Given the description of an element on the screen output the (x, y) to click on. 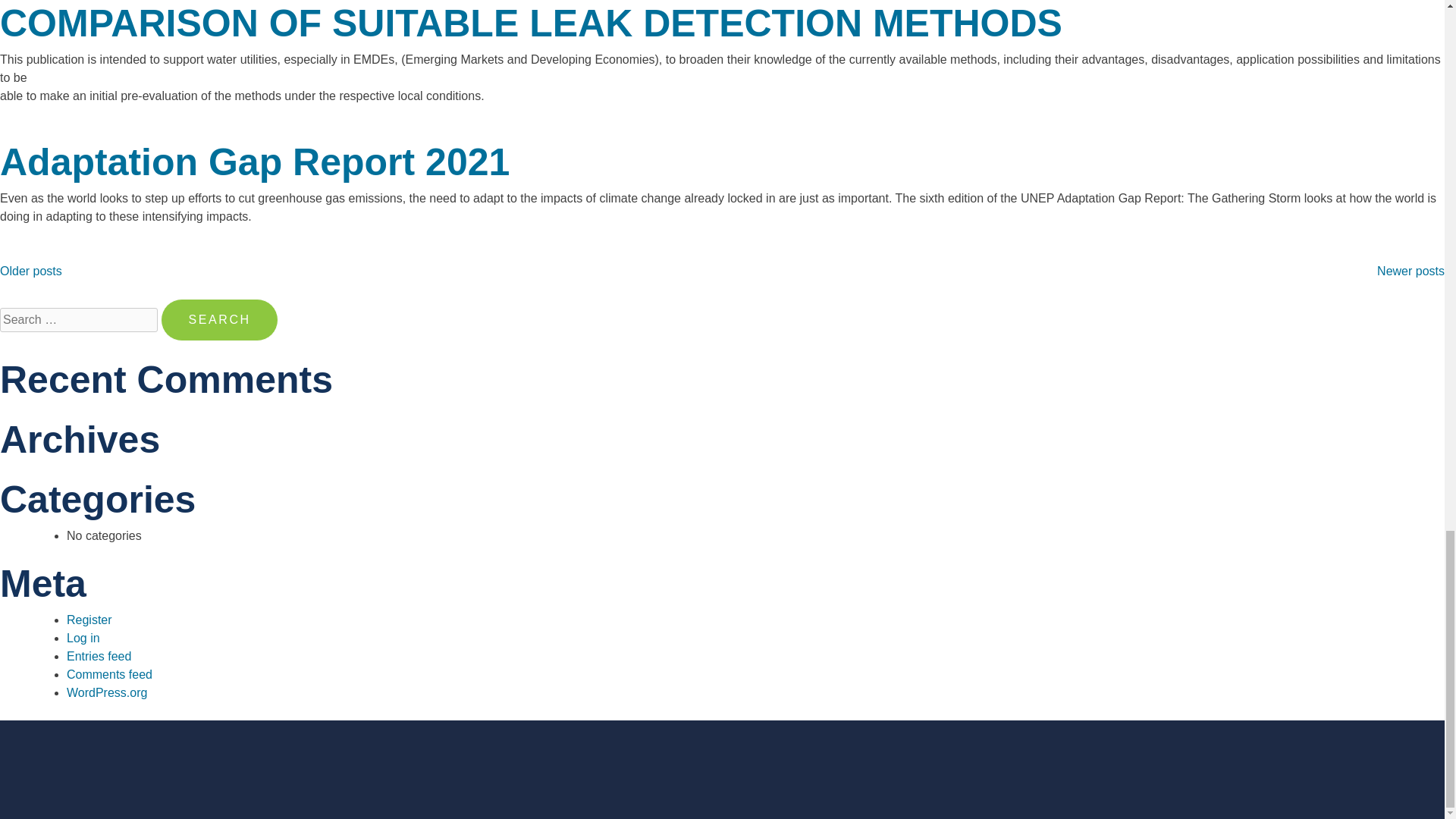
Older posts (31, 270)
Register (89, 619)
Search (219, 319)
Entries feed (98, 656)
COMPARISON OF SUITABLE LEAK DETECTION METHODS (531, 23)
Comments feed (109, 674)
Search (219, 319)
Search (219, 319)
Log in (83, 637)
WordPress.org (106, 692)
